Given the description of an element on the screen output the (x, y) to click on. 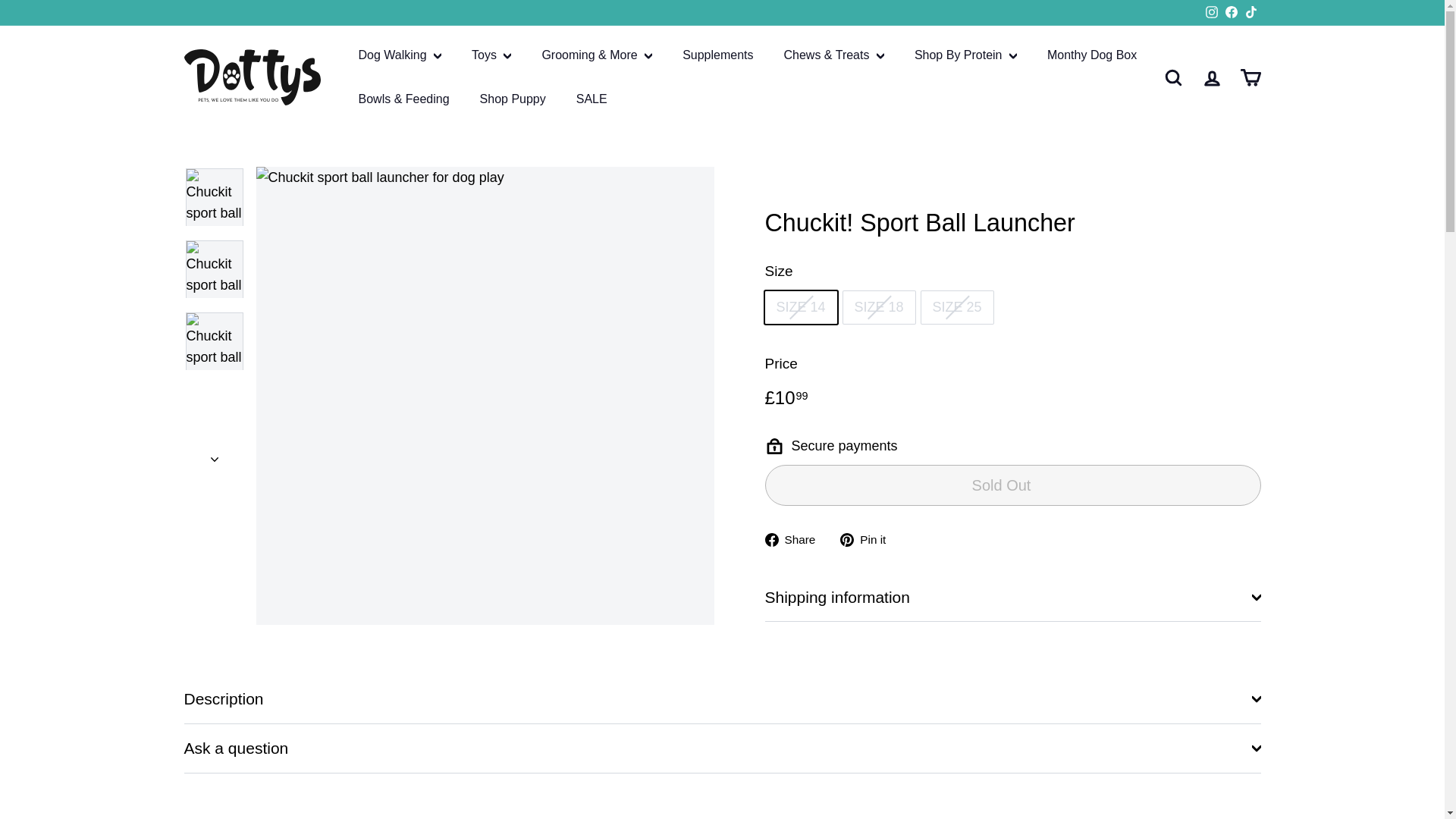
icon-chevron (214, 459)
Search (1173, 77)
Dottys on TikTok (1250, 12)
Shop Puppy (512, 98)
Monthy Dog Box (1091, 54)
Supplements (717, 54)
instagram (1211, 11)
Facebook (1230, 12)
Account (1211, 77)
TikTok (1250, 12)
Dottys on Instagram (1211, 12)
Dottys on Facebook (1230, 12)
